Given the description of an element on the screen output the (x, y) to click on. 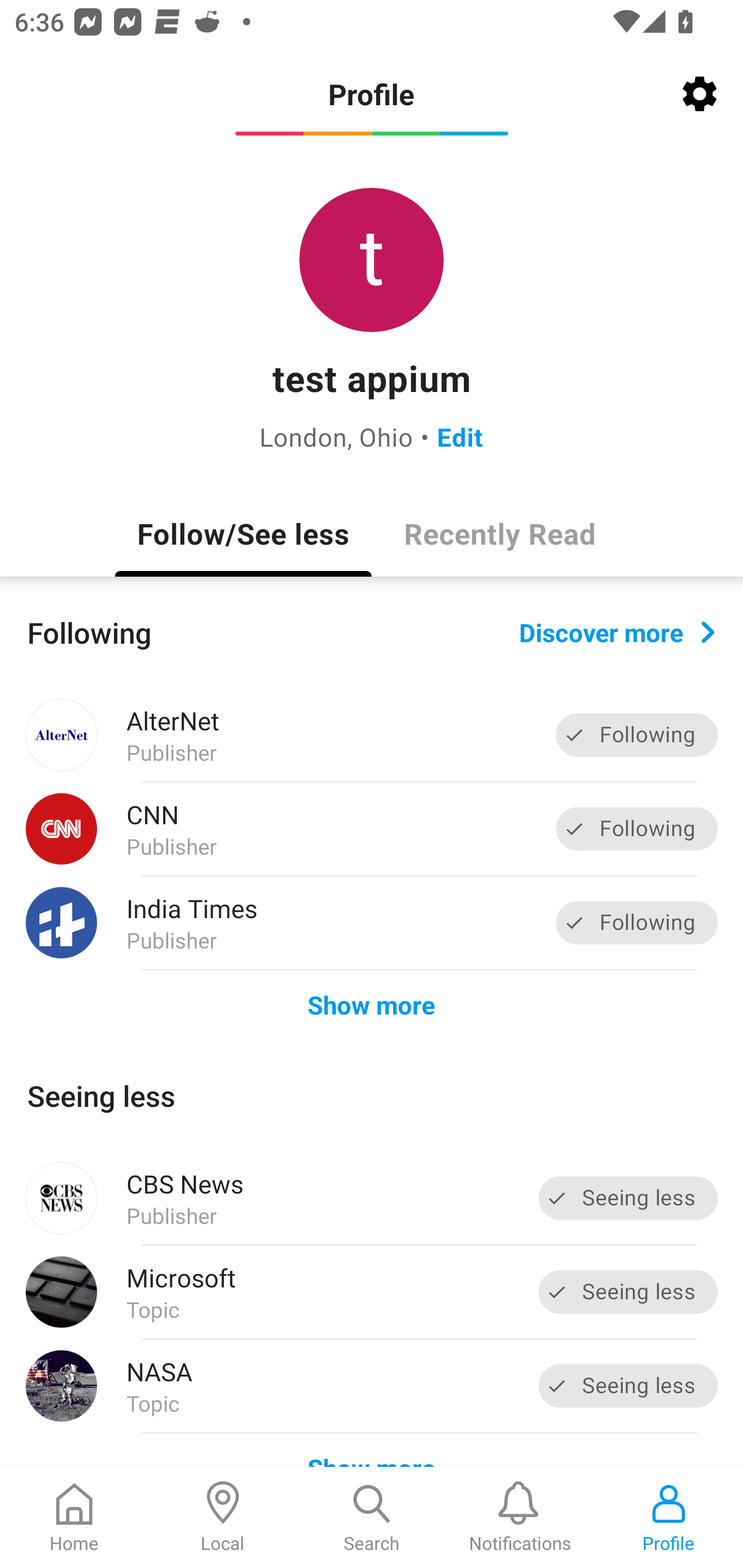
Settings (699, 93)
Edit (459, 436)
Recently Read (499, 533)
Discover more (617, 631)
AlterNet Publisher Following (371, 735)
Following (636, 735)
CNN Publisher Following (371, 829)
Following (636, 828)
India Times Publisher Following (371, 922)
Following (636, 922)
Show more (371, 1004)
CBS News Publisher Seeing less (371, 1197)
Seeing less (627, 1197)
Microsoft Topic Seeing less (371, 1291)
Seeing less (627, 1291)
NASA Topic Seeing less (371, 1386)
Seeing less (627, 1386)
Home (74, 1517)
Local (222, 1517)
Search (371, 1517)
Notifications (519, 1517)
